Given the description of an element on the screen output the (x, y) to click on. 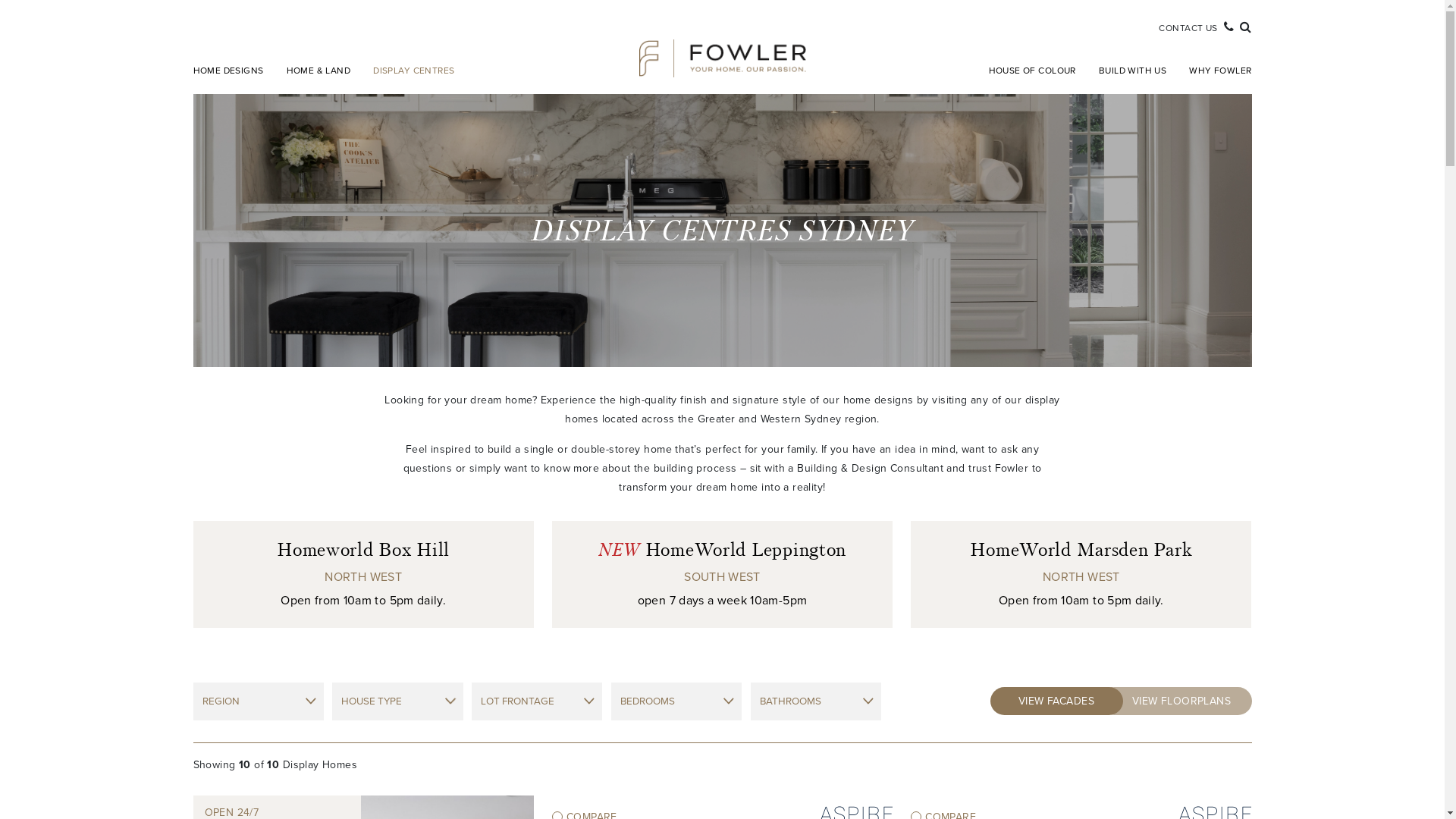
WHY FOWLER Element type: text (1214, 71)
HOME DESIGNS Element type: text (233, 71)
Homeworld Box Hill
NORTH WEST
Open from 10am to 5pm daily. Element type: text (362, 573)
HOME & LAND Element type: text (318, 71)
HOUSE OF COLOUR Element type: text (1032, 71)
BUILD WITH US Element type: text (1132, 71)
DISPLAY CENTRES Element type: text (413, 71)
CONTACT US Element type: text (1187, 27)
